Given the description of an element on the screen output the (x, y) to click on. 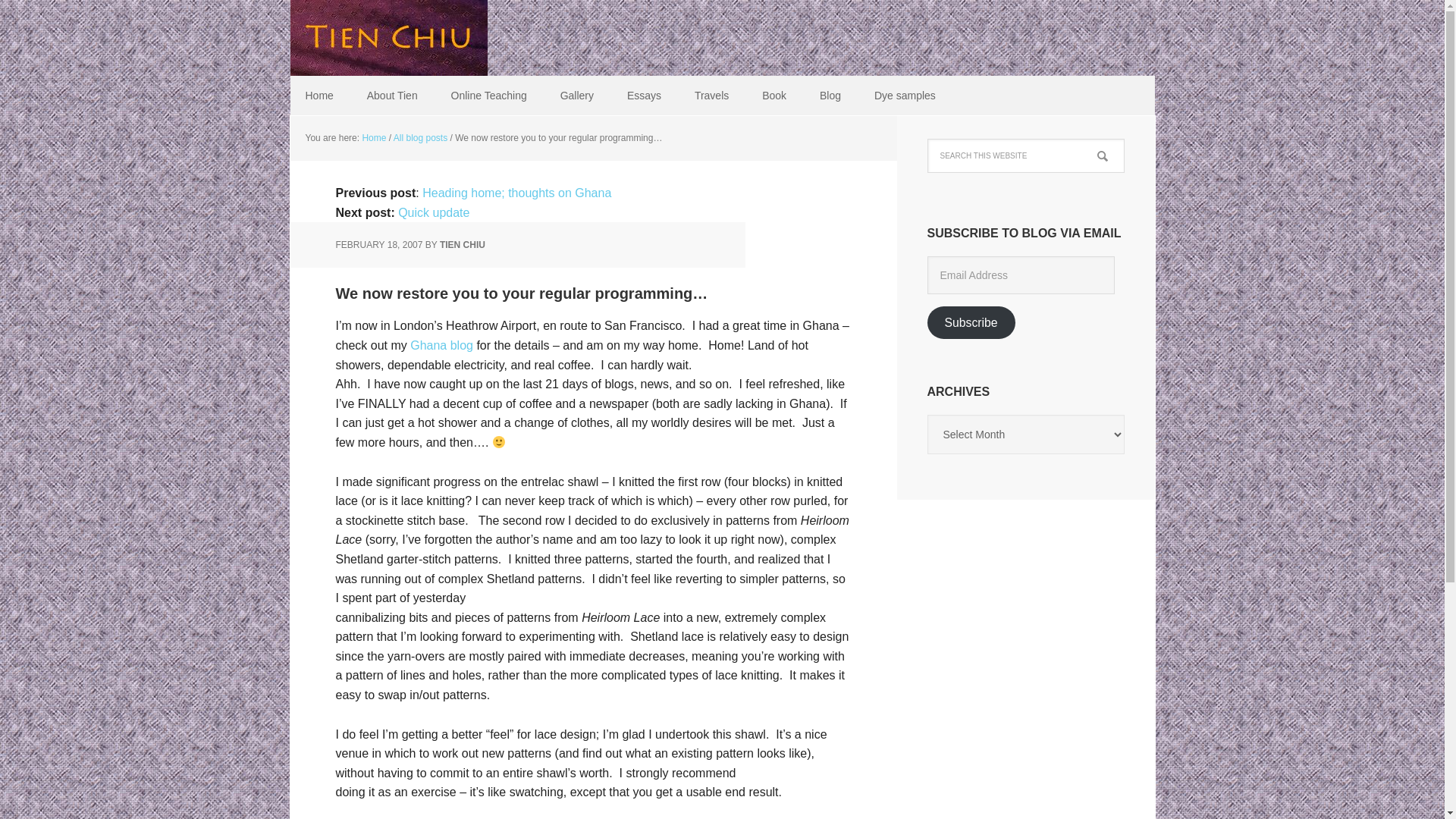
Home (373, 137)
Book (774, 96)
TIEN CHIU (461, 244)
Essays (644, 96)
Subscribe (970, 322)
About Tien (392, 96)
Gallery (576, 96)
Dye samples (904, 96)
Online Teaching (488, 96)
Tien Chiu (387, 38)
Home (318, 96)
Travels (711, 96)
Heading home; thoughts on Ghana (516, 192)
Quick update (432, 212)
